Given the description of an element on the screen output the (x, y) to click on. 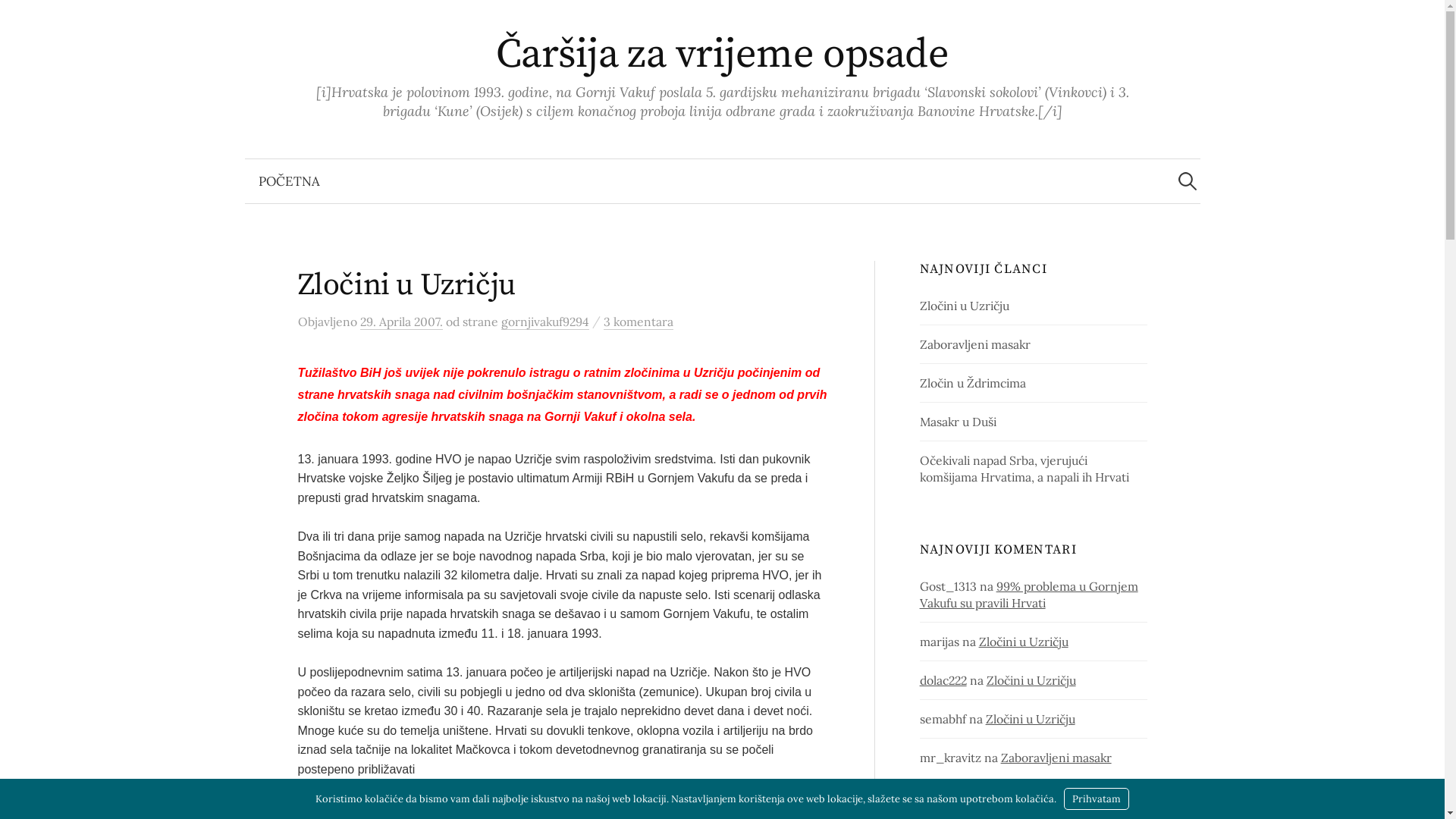
dolac222 Element type: text (942, 679)
Pretraga Element type: text (18, 18)
99% problema u Gornjem Vakufu su pravili Hrvati Element type: text (1028, 594)
Zaboravljeni masakr Element type: text (1056, 757)
gornjivakuf9294 Element type: text (544, 321)
29. Aprila 2007. Element type: text (400, 321)
Prihvatam Element type: text (1096, 798)
Zaboravljeni masakr Element type: text (974, 343)
